Given the description of an element on the screen output the (x, y) to click on. 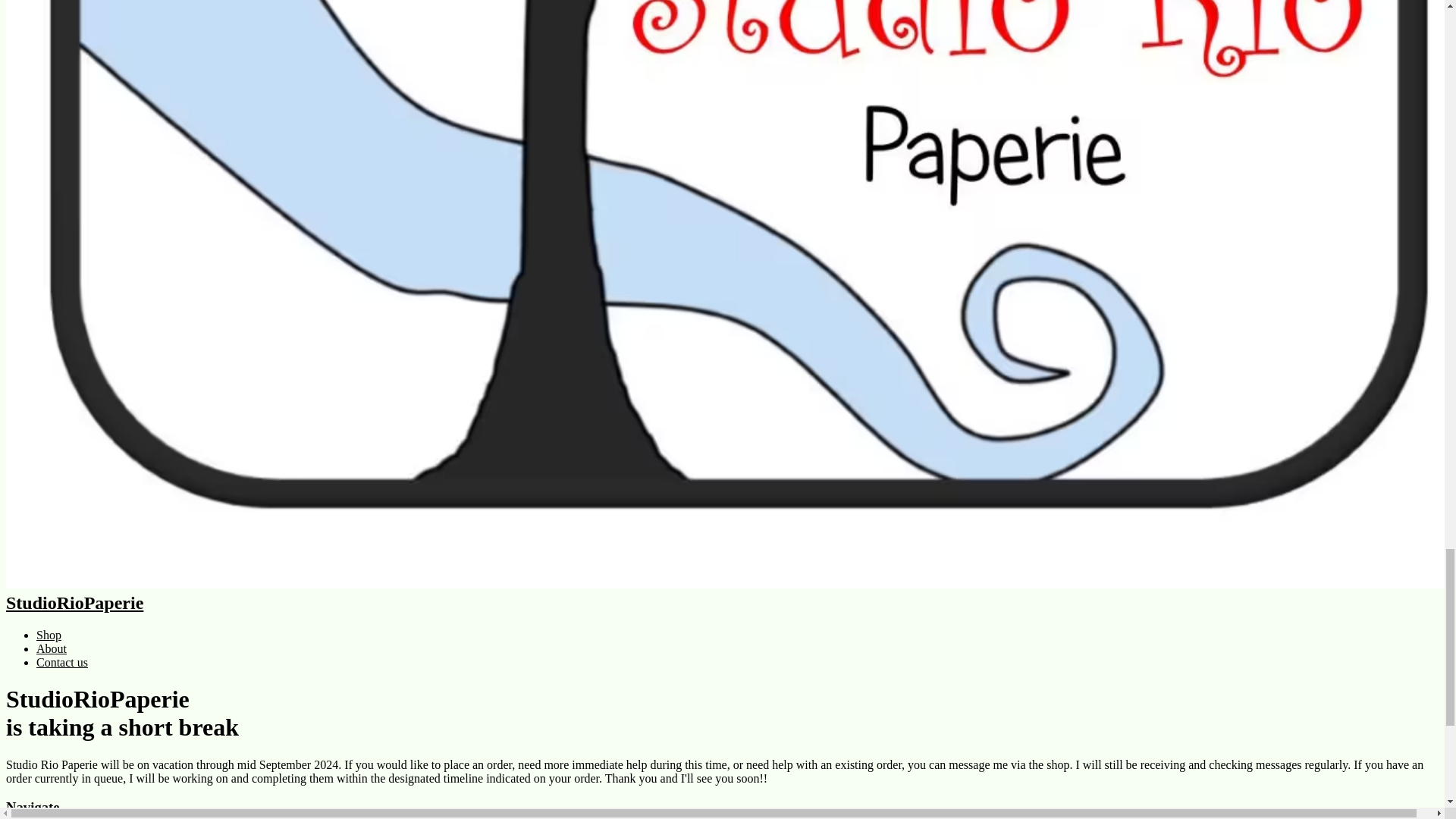
Contact us (61, 662)
About (51, 648)
Shop (48, 634)
